Given the description of an element on the screen output the (x, y) to click on. 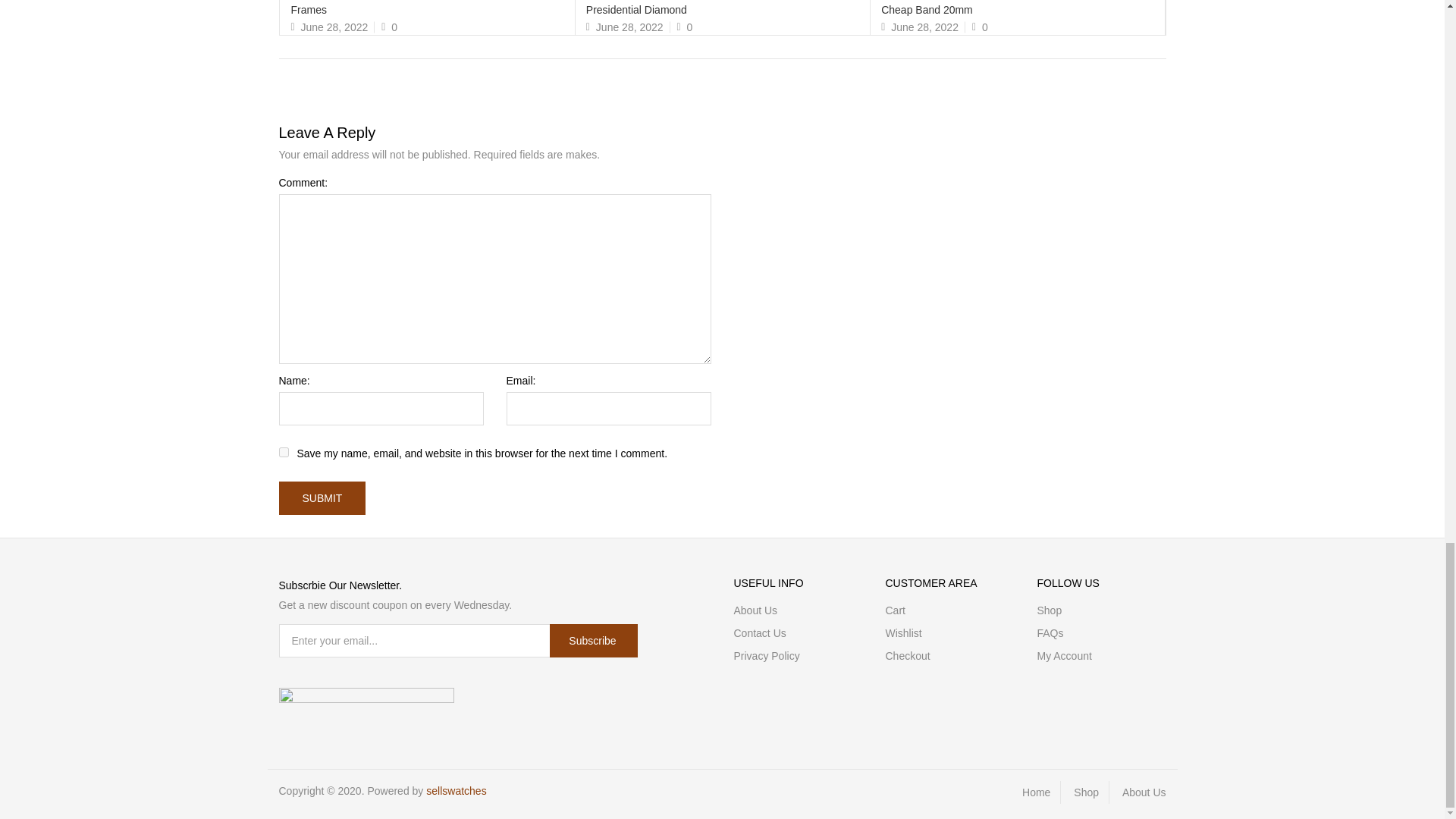
subscribe (593, 640)
payments (366, 696)
submit (322, 498)
yes (283, 452)
